Given the description of an element on the screen output the (x, y) to click on. 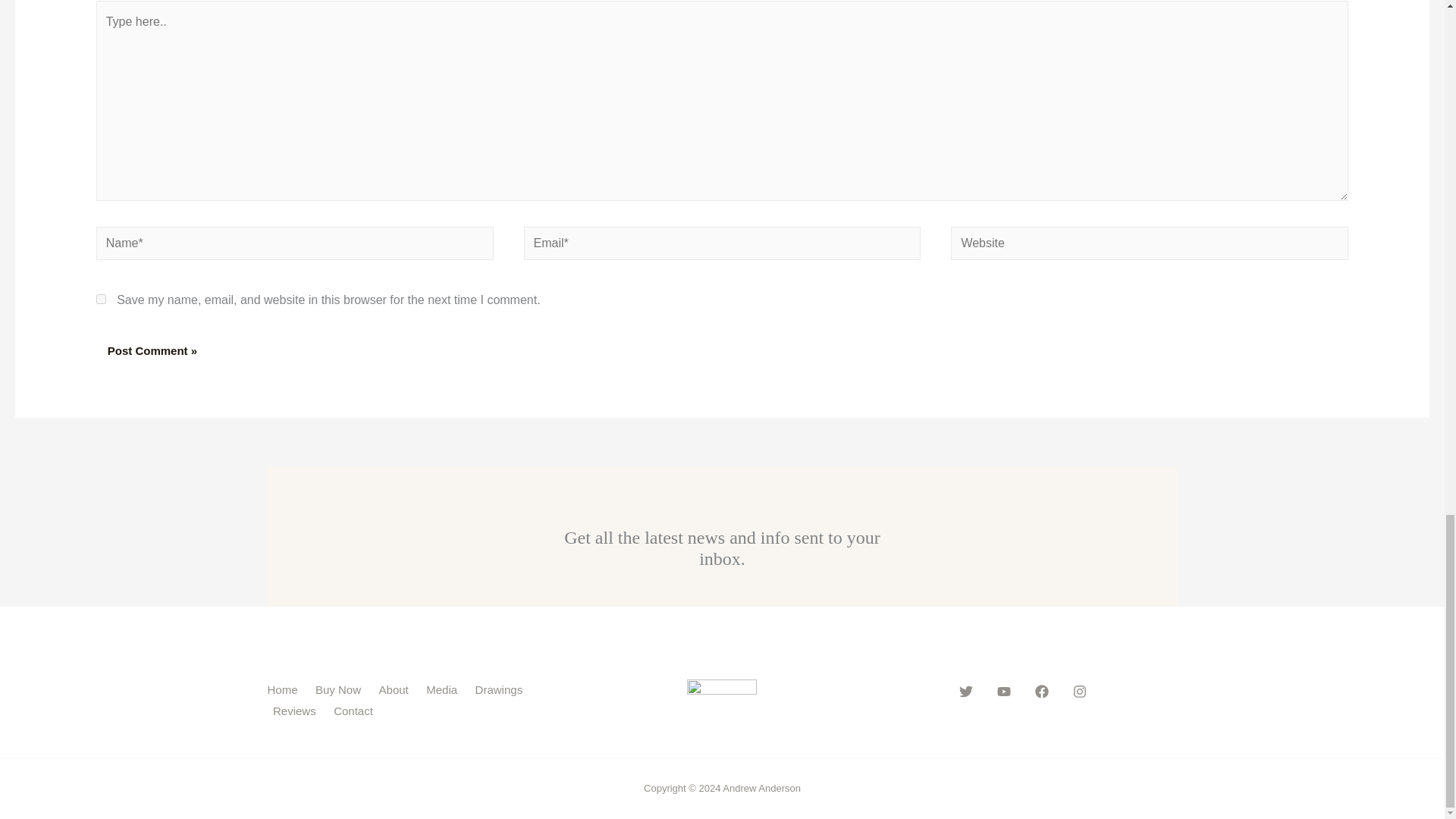
Buy Now (342, 690)
Home (287, 690)
Media (444, 690)
Reviews (296, 711)
Drawings (501, 690)
Get all the latest news and info sent to your inbox. (722, 548)
Contact (357, 711)
yes (101, 298)
About (396, 690)
